Given the description of an element on the screen output the (x, y) to click on. 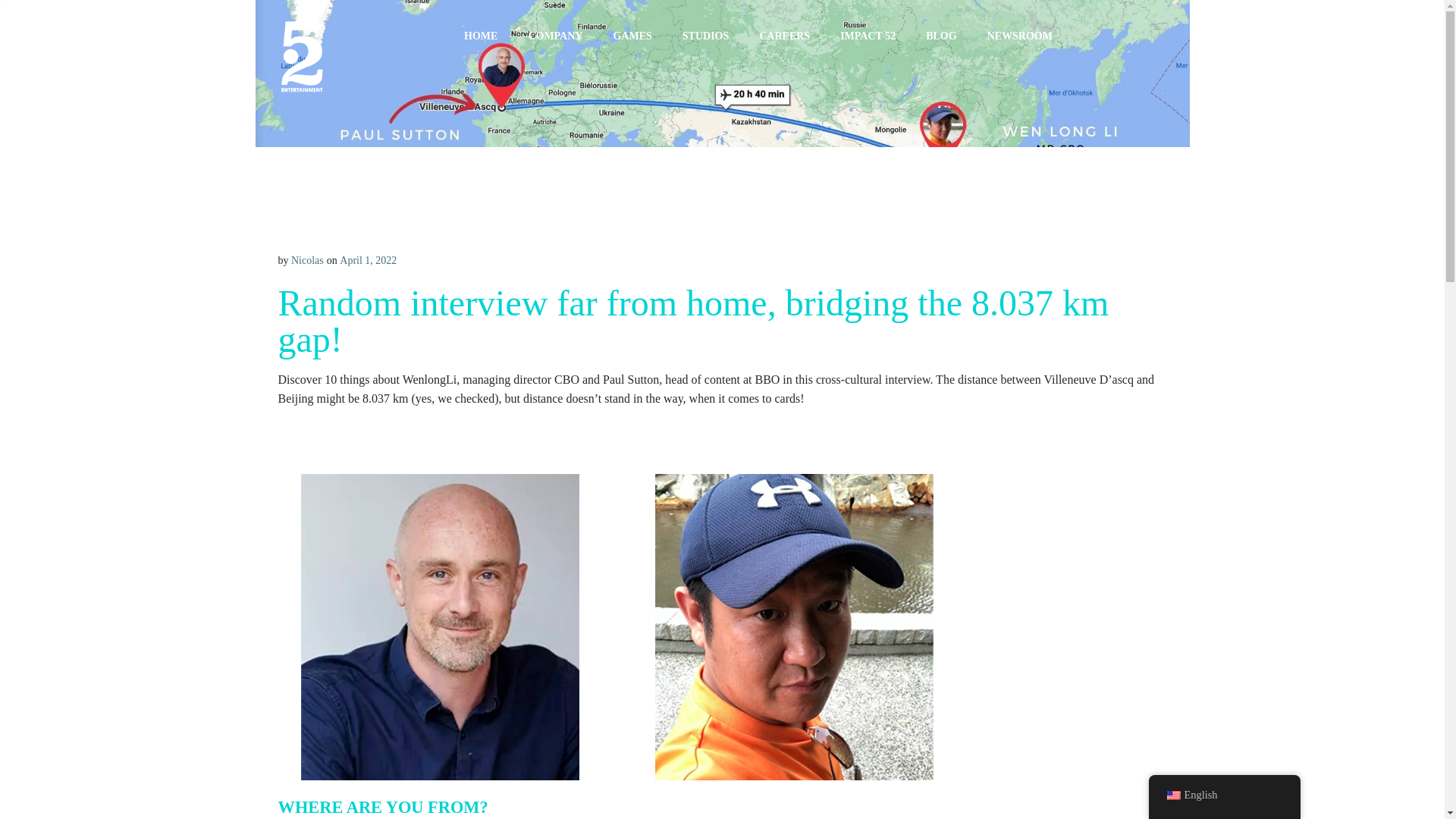
STUDIOS (705, 35)
NEWSROOM (1019, 35)
COMPANY (554, 35)
Nicolas (307, 260)
CAREERS (783, 35)
GAMES (631, 35)
April 1, 2022 (367, 260)
BLOG (941, 35)
IMPACT 52 (867, 35)
English (1224, 795)
HOME (480, 35)
English (1172, 795)
